Given the description of an element on the screen output the (x, y) to click on. 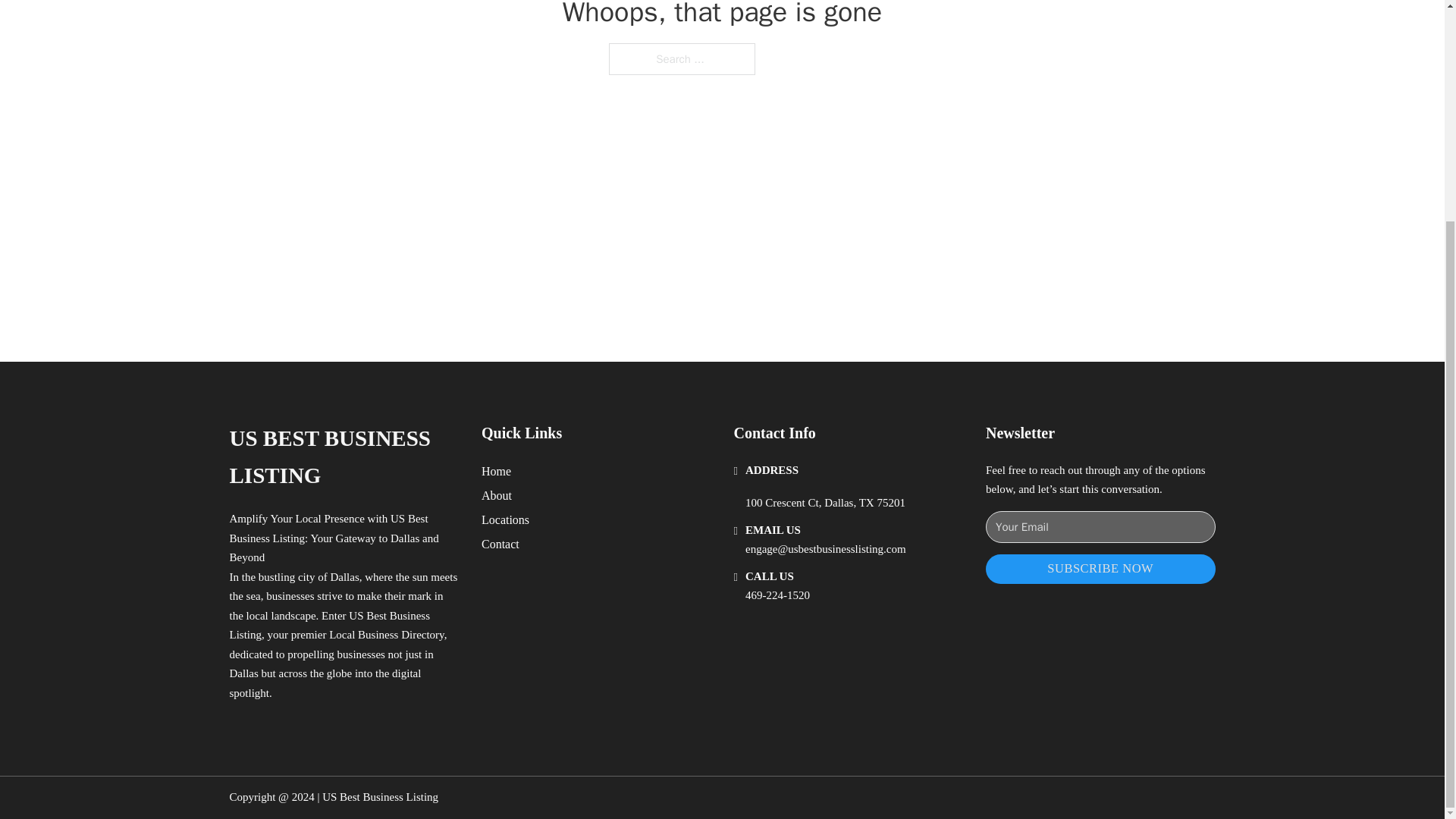
SUBSCRIBE NOW (1100, 568)
Locations (505, 519)
Contact (500, 543)
Home (496, 471)
469-224-1520 (777, 594)
About (496, 495)
US BEST BUSINESS LISTING (343, 457)
